Given the description of an element on the screen output the (x, y) to click on. 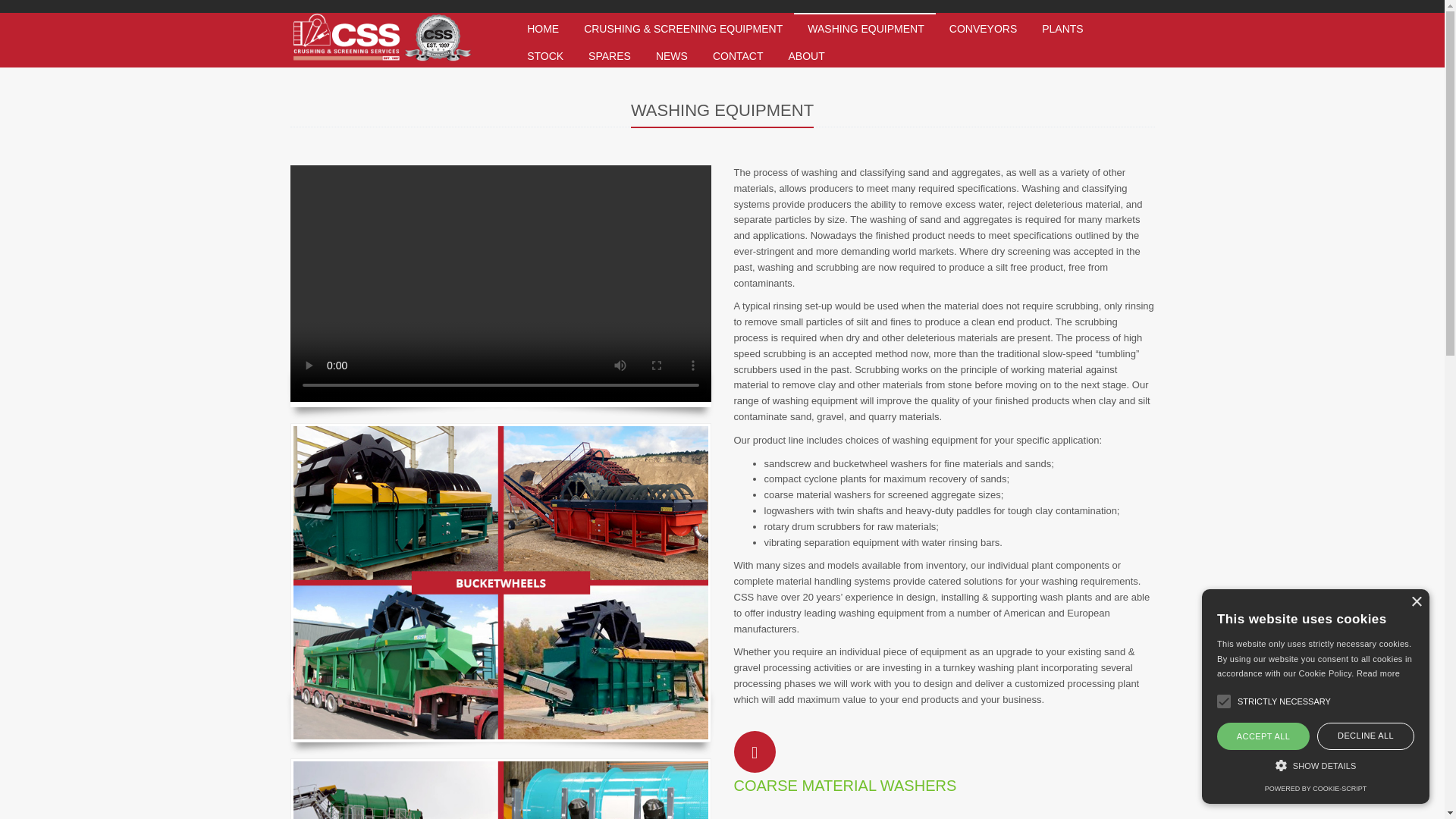
SPARES (608, 53)
Read more (1377, 673)
CONTACT (736, 53)
COARSE MATERIAL WASHERS (844, 785)
PLANTS (1060, 26)
ABOUT (804, 53)
STOCK (544, 53)
HOME (541, 26)
WASHING EQUIPMENT (864, 26)
POWERED BY COOKIE-SCRIPT (1316, 788)
NEWS (670, 53)
CONVEYORS (981, 26)
